Given the description of an element on the screen output the (x, y) to click on. 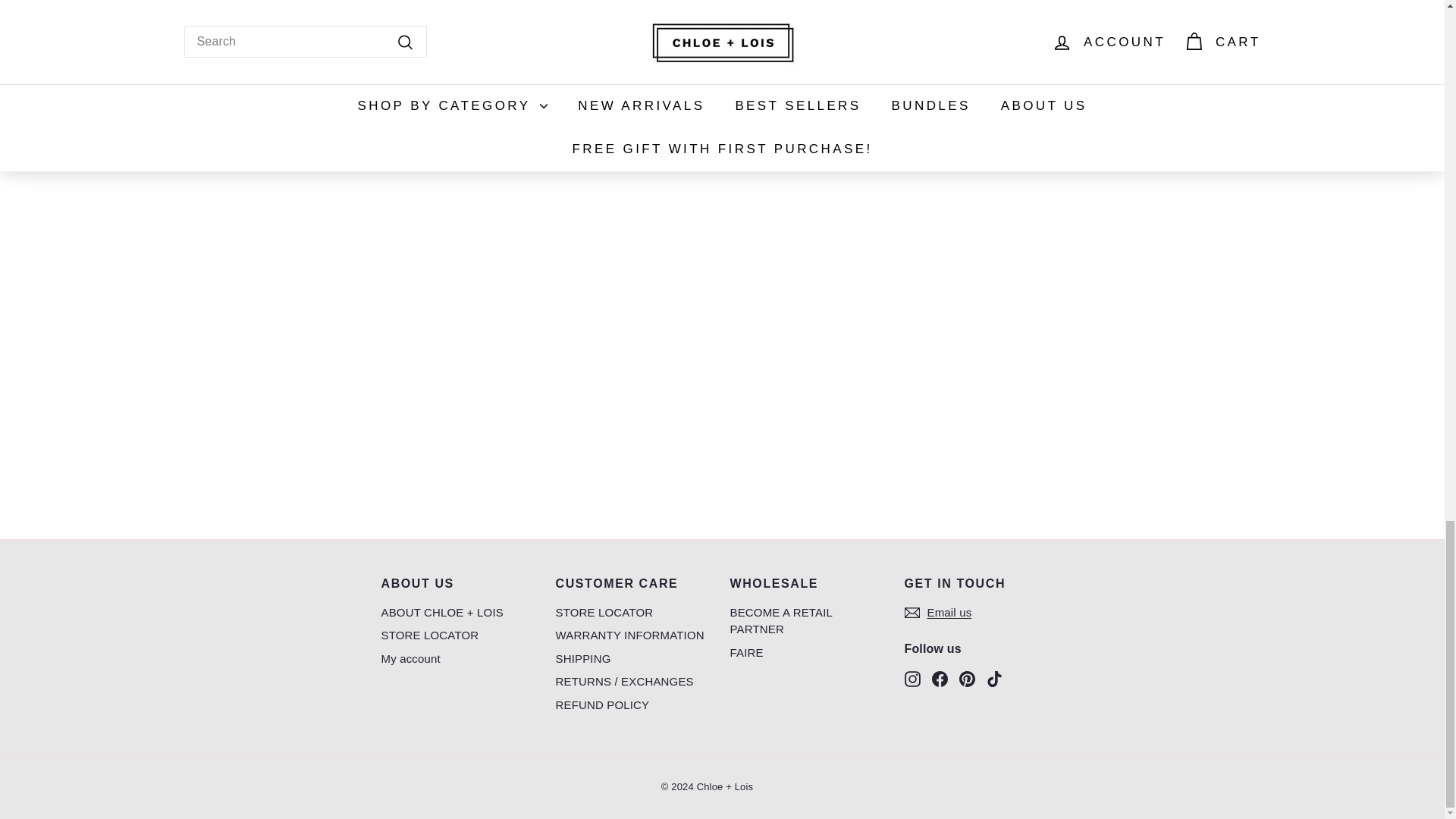
instagram (912, 678)
